Given the description of an element on the screen output the (x, y) to click on. 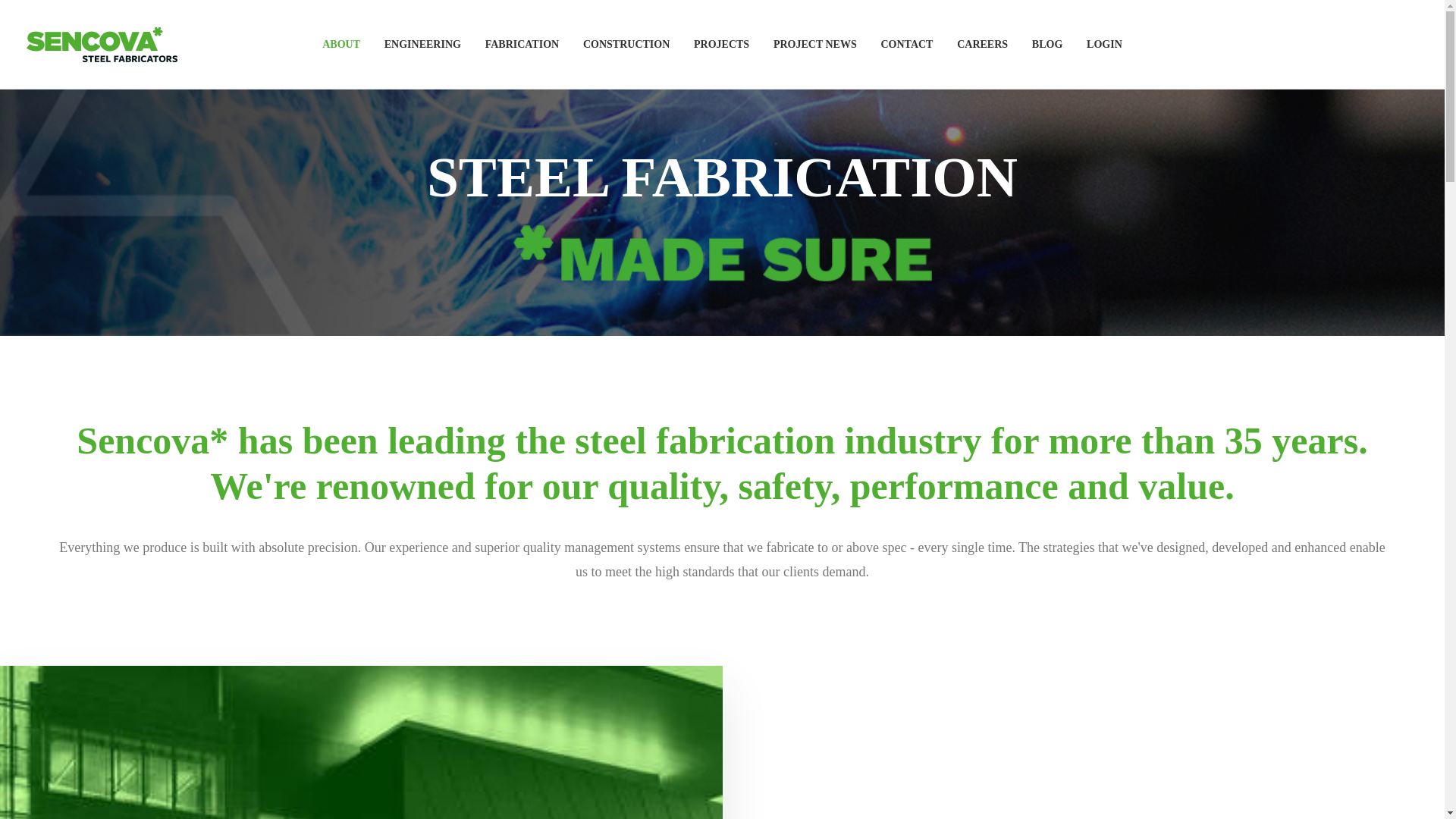
PROJECT NEWS (814, 44)
CONSTRUCTION (625, 44)
CONSTRUCTION (625, 44)
ENGINEERING (422, 44)
ENGINEERING (422, 44)
FABRICATION (522, 44)
PROJECT NEWS (814, 44)
FABRICATION (522, 44)
